Given the description of an element on the screen output the (x, y) to click on. 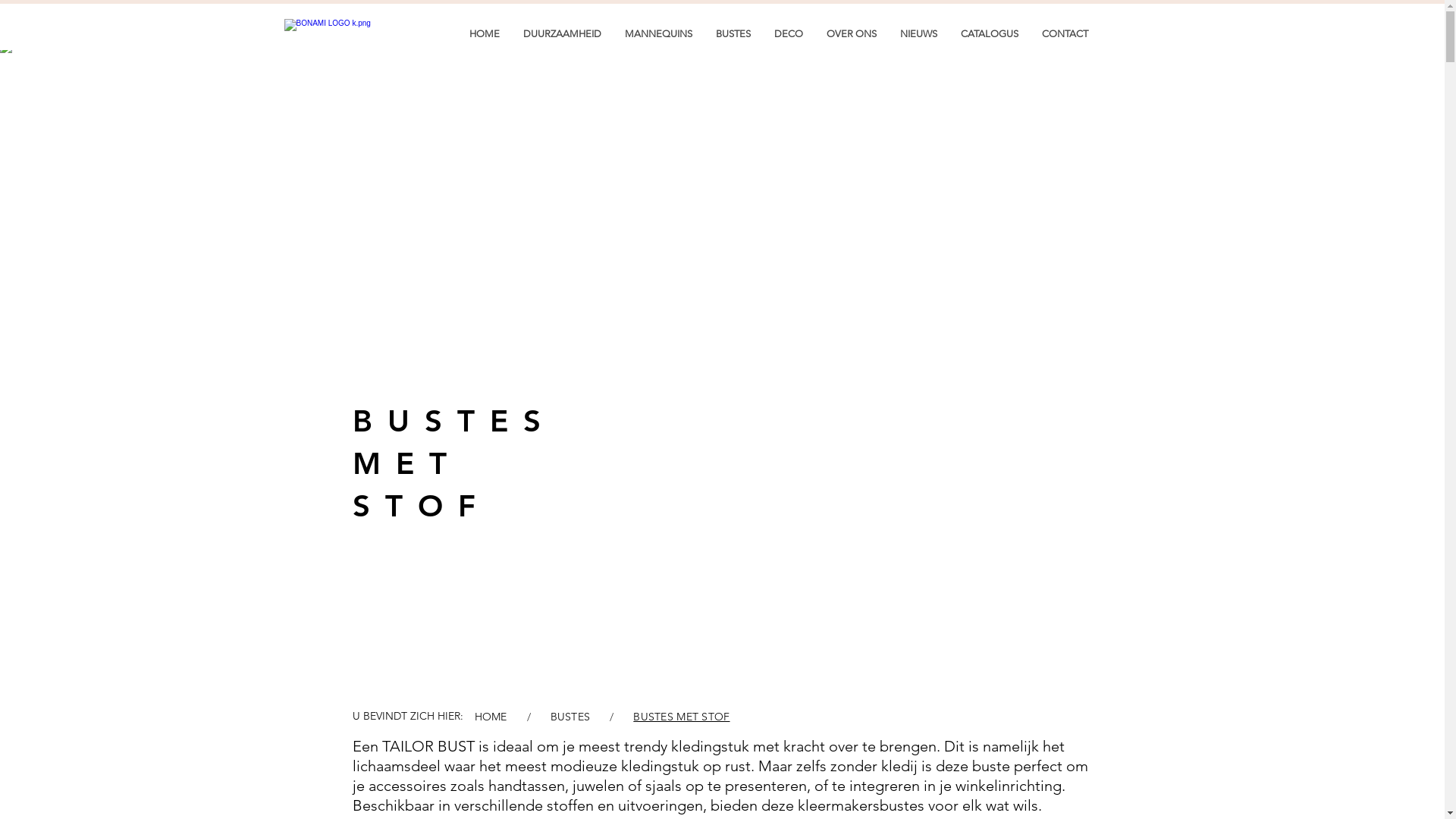
OVER ONS Element type: text (851, 33)
HOME Element type: text (483, 33)
NIEUWS Element type: text (917, 33)
BUSTES Element type: text (570, 716)
DUURZAAMHEID Element type: text (561, 33)
HOME Element type: text (490, 716)
CONTACT Element type: text (1064, 33)
DECO Element type: text (787, 33)
CATALOGUS Element type: text (988, 33)
